Given the description of an element on the screen output the (x, y) to click on. 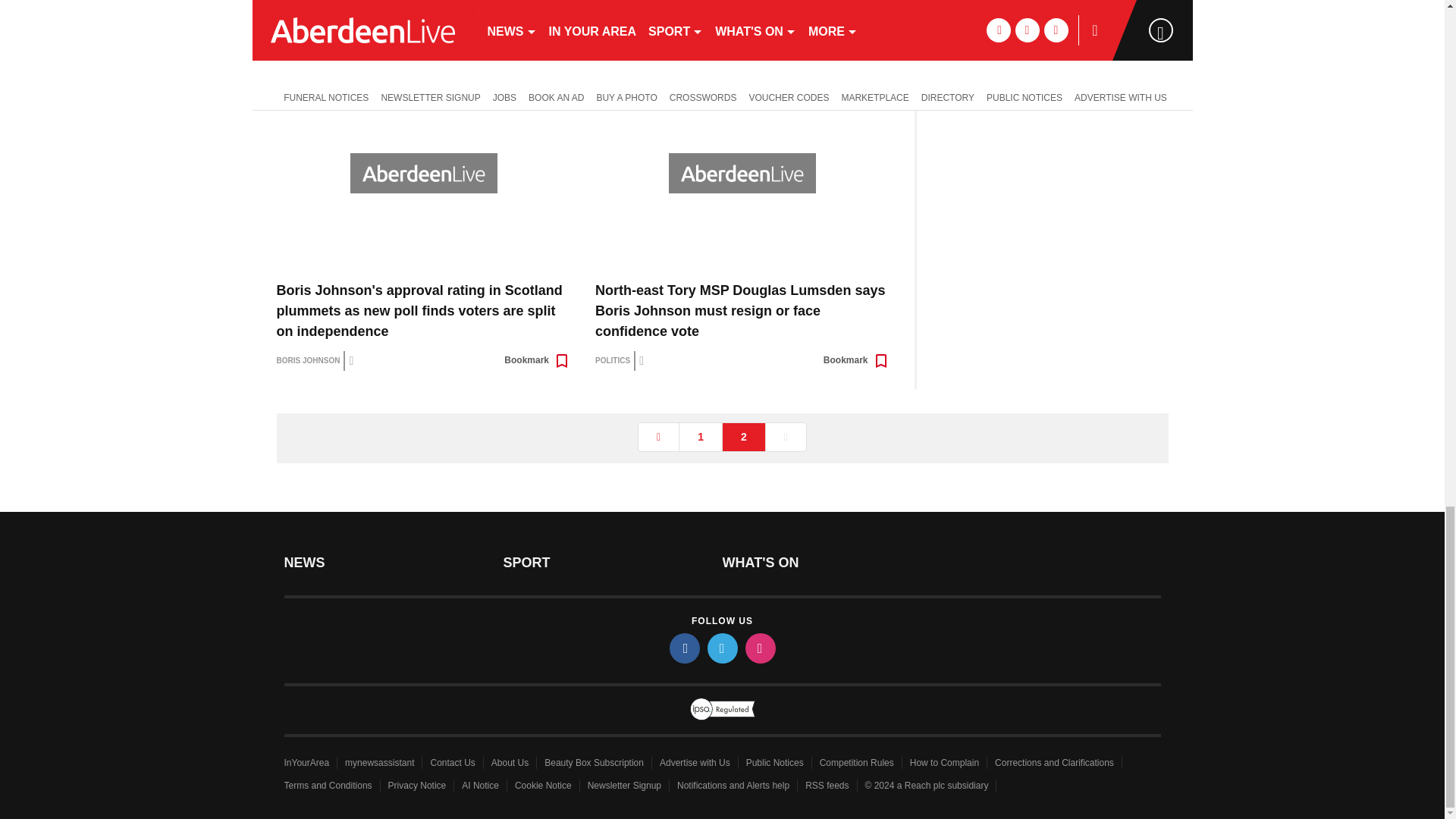
facebook (683, 648)
instagram (759, 648)
twitter (721, 648)
